Given the description of an element on the screen output the (x, y) to click on. 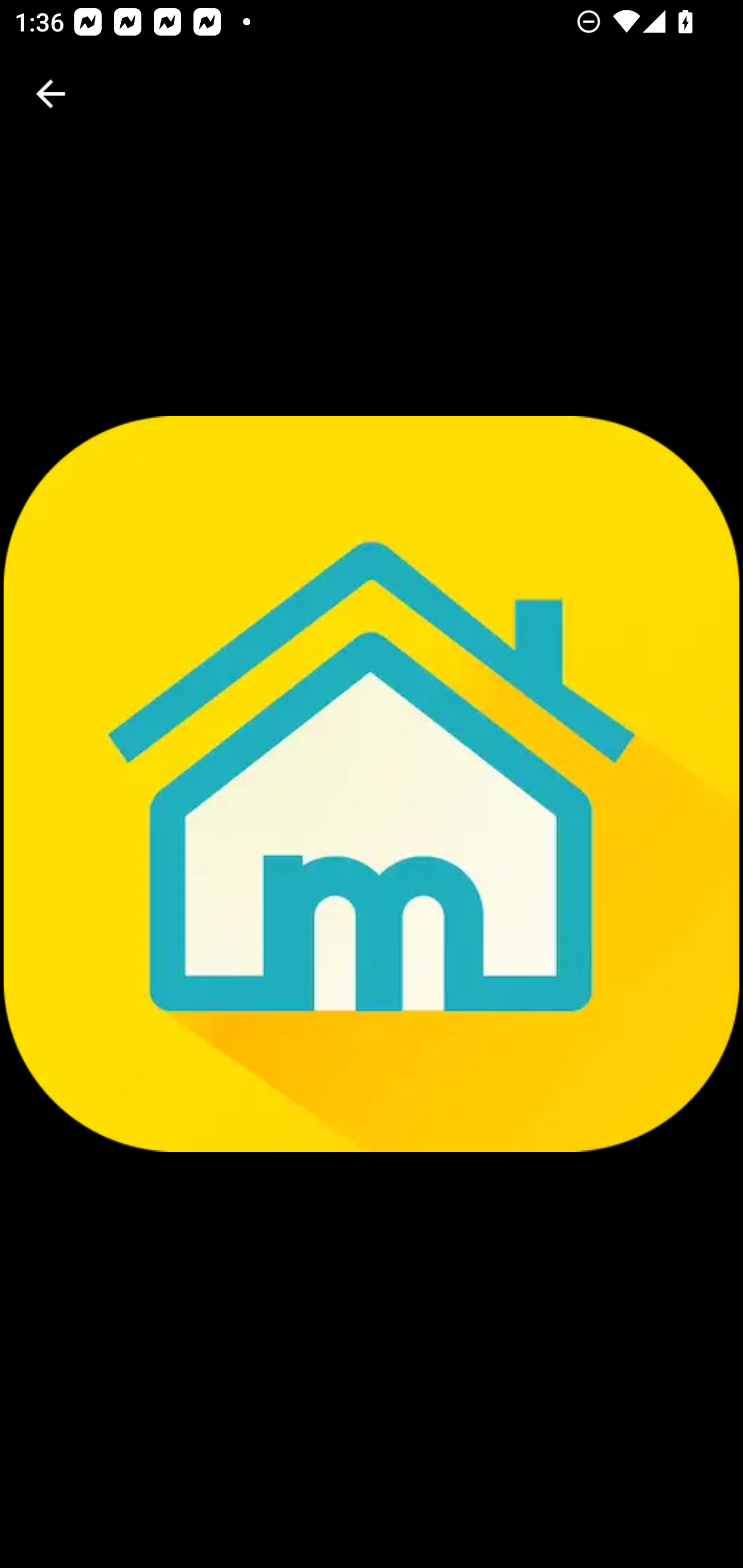
Back (50, 93)
